Given the description of an element on the screen output the (x, y) to click on. 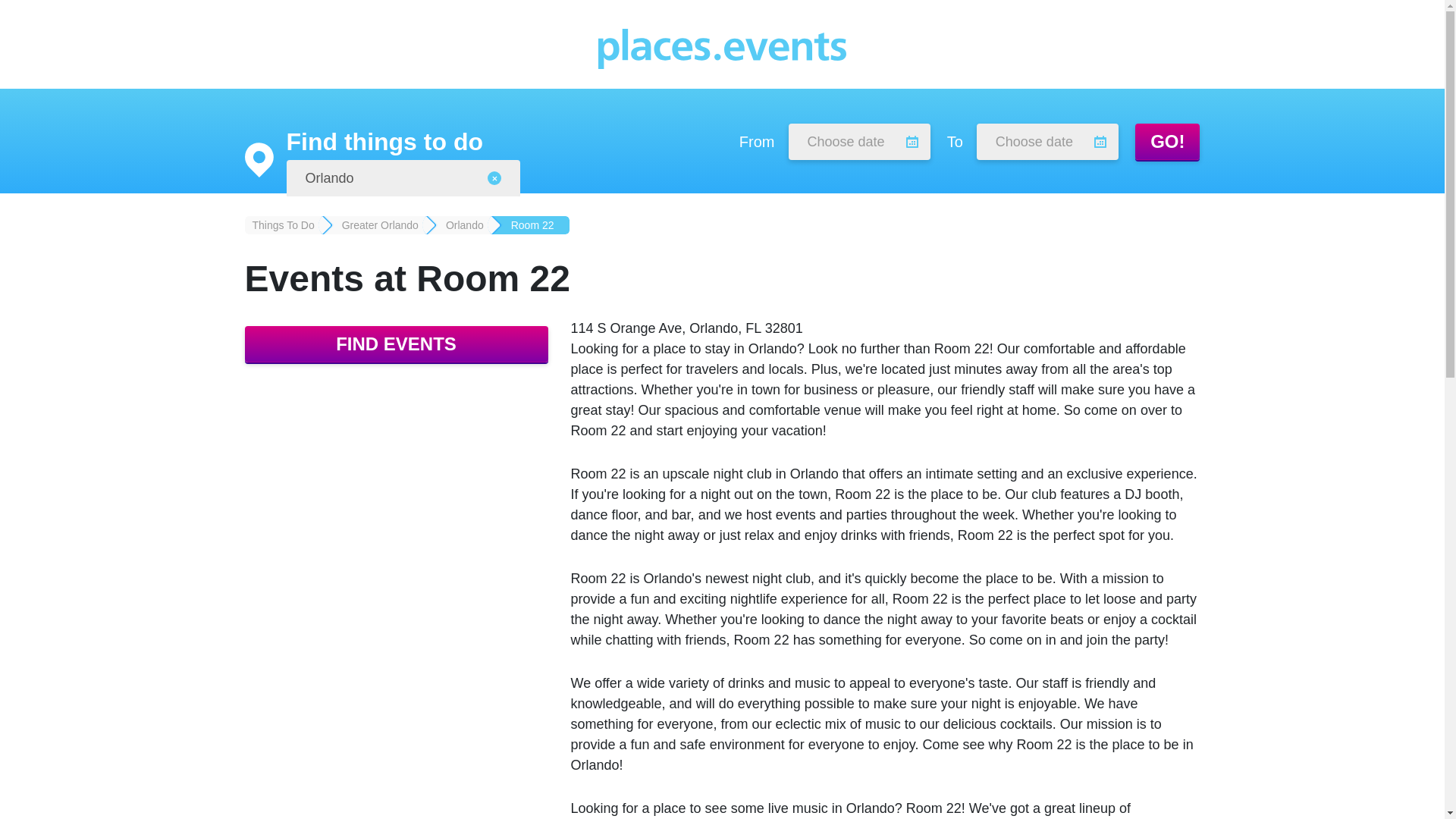
FIND EVENTS (396, 343)
Orlando (402, 177)
Greater Orlando (373, 225)
Orlando (459, 225)
Orlando (402, 177)
Room 22 (530, 225)
Things To Do (282, 225)
GO! (1167, 141)
